Given the description of an element on the screen output the (x, y) to click on. 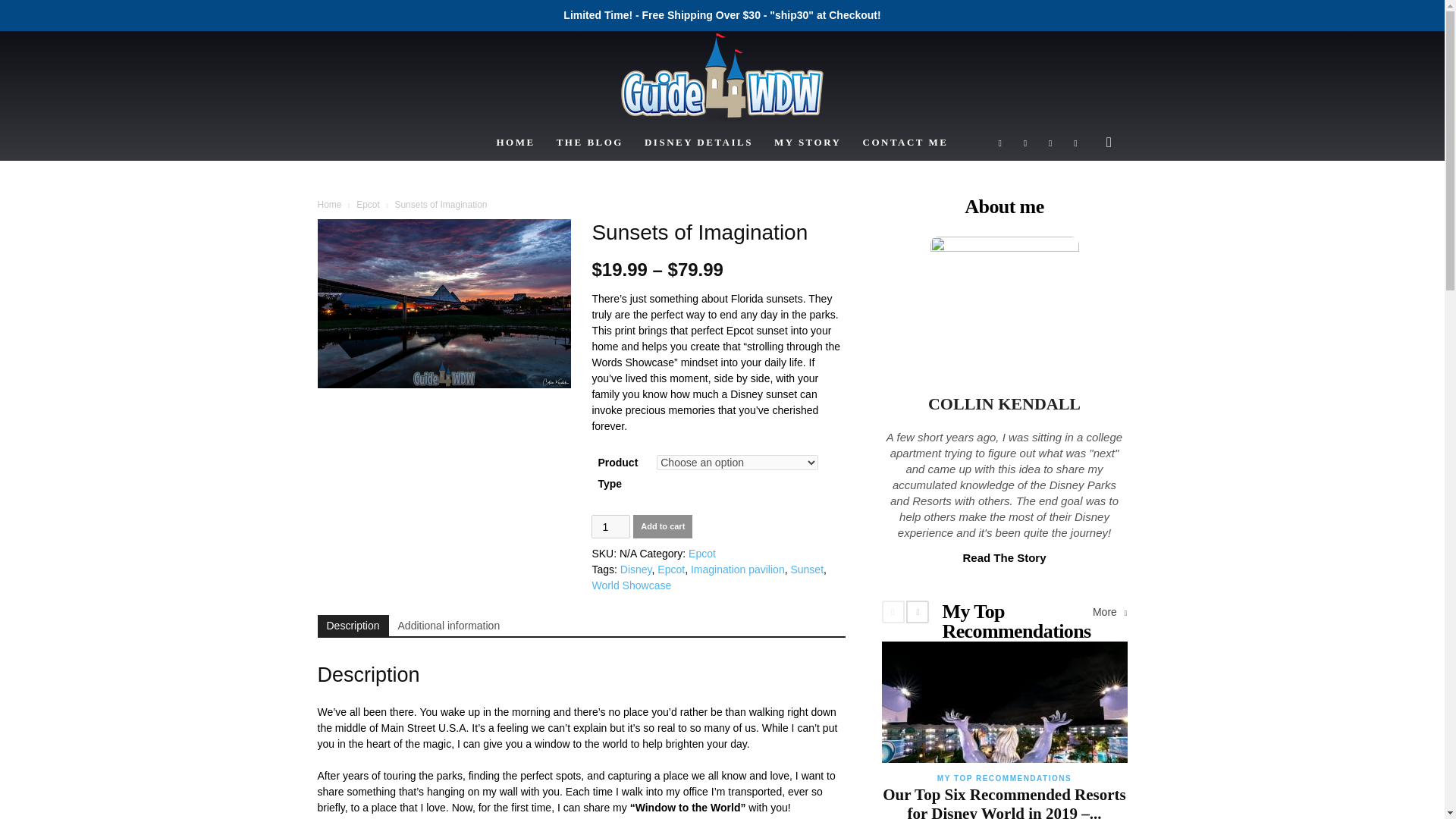
Epcot (702, 553)
1 (610, 526)
MY STORY (806, 142)
World Showcase (631, 585)
Sunset (807, 569)
Product Image-4 (443, 303)
Description (352, 626)
Epcot (368, 204)
Imagination pavilion (737, 569)
Disney (636, 569)
Epcot (671, 569)
Home (328, 204)
Add to cart (663, 526)
HOME (514, 142)
DISNEY DETAILS (697, 142)
